Given the description of an element on the screen output the (x, y) to click on. 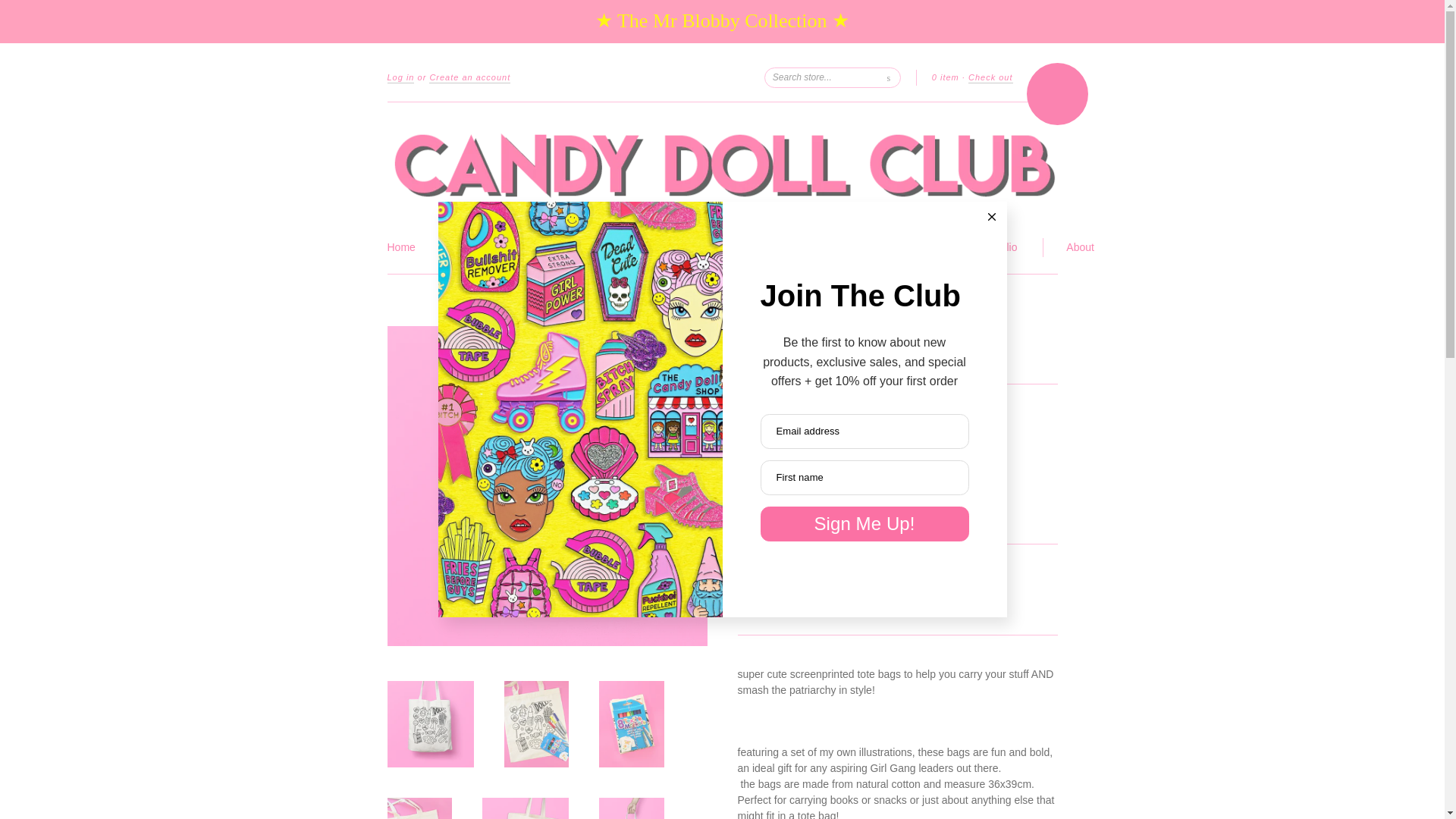
Search (888, 76)
Create an account (470, 77)
Log in (400, 77)
All Products (744, 247)
0 item (945, 77)
Portfolio (997, 247)
Contact (910, 247)
Check out (990, 77)
1 (759, 498)
FAQ (832, 247)
About (1079, 247)
Collections (637, 248)
Home (400, 247)
